Given the description of an element on the screen output the (x, y) to click on. 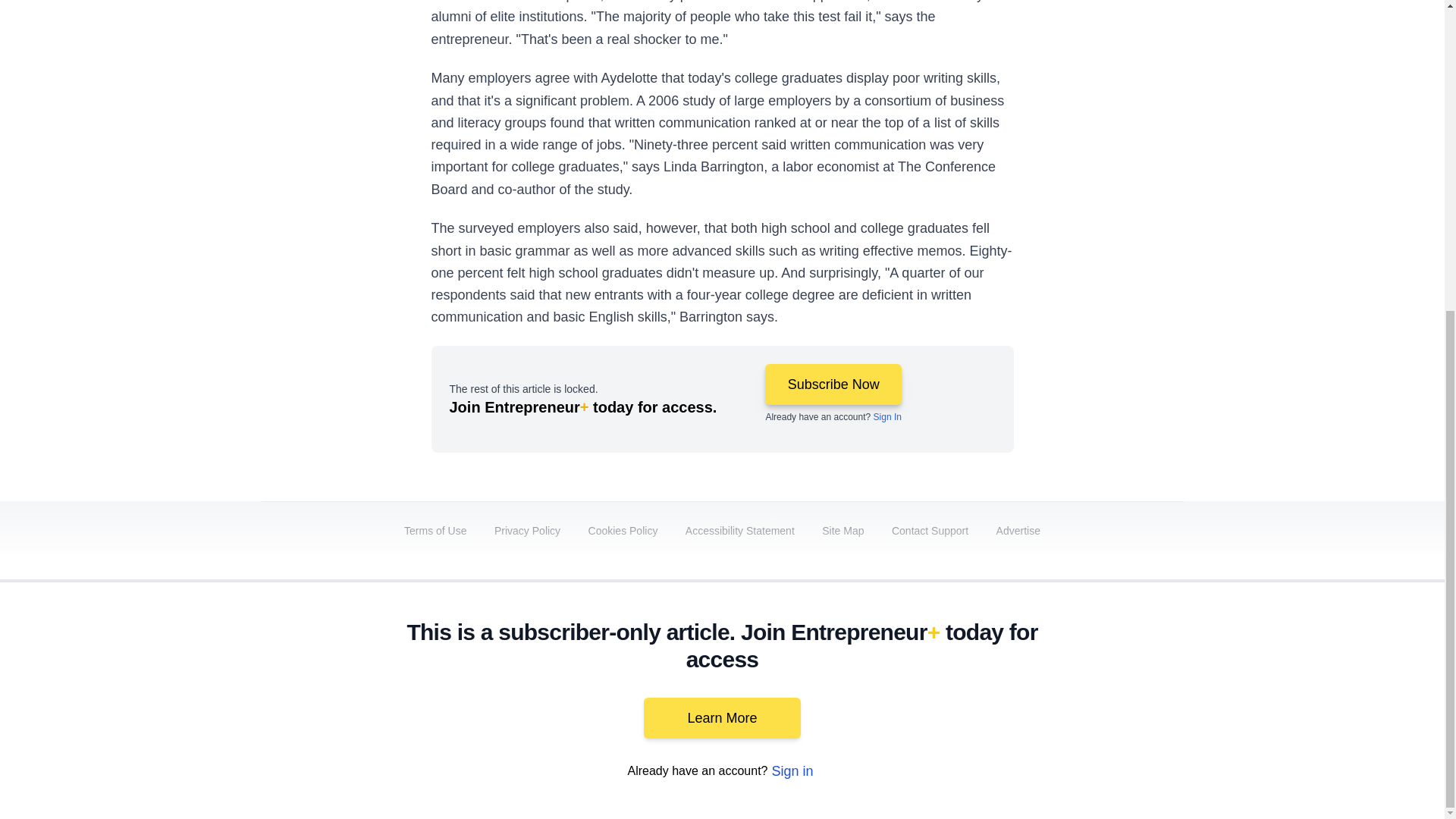
facebook (866, 691)
linkedin (952, 691)
instagram (1037, 691)
twitter (909, 691)
youtube (994, 691)
snapchat (1121, 691)
rss (1164, 691)
tiktok (1079, 691)
